Given the description of an element on the screen output the (x, y) to click on. 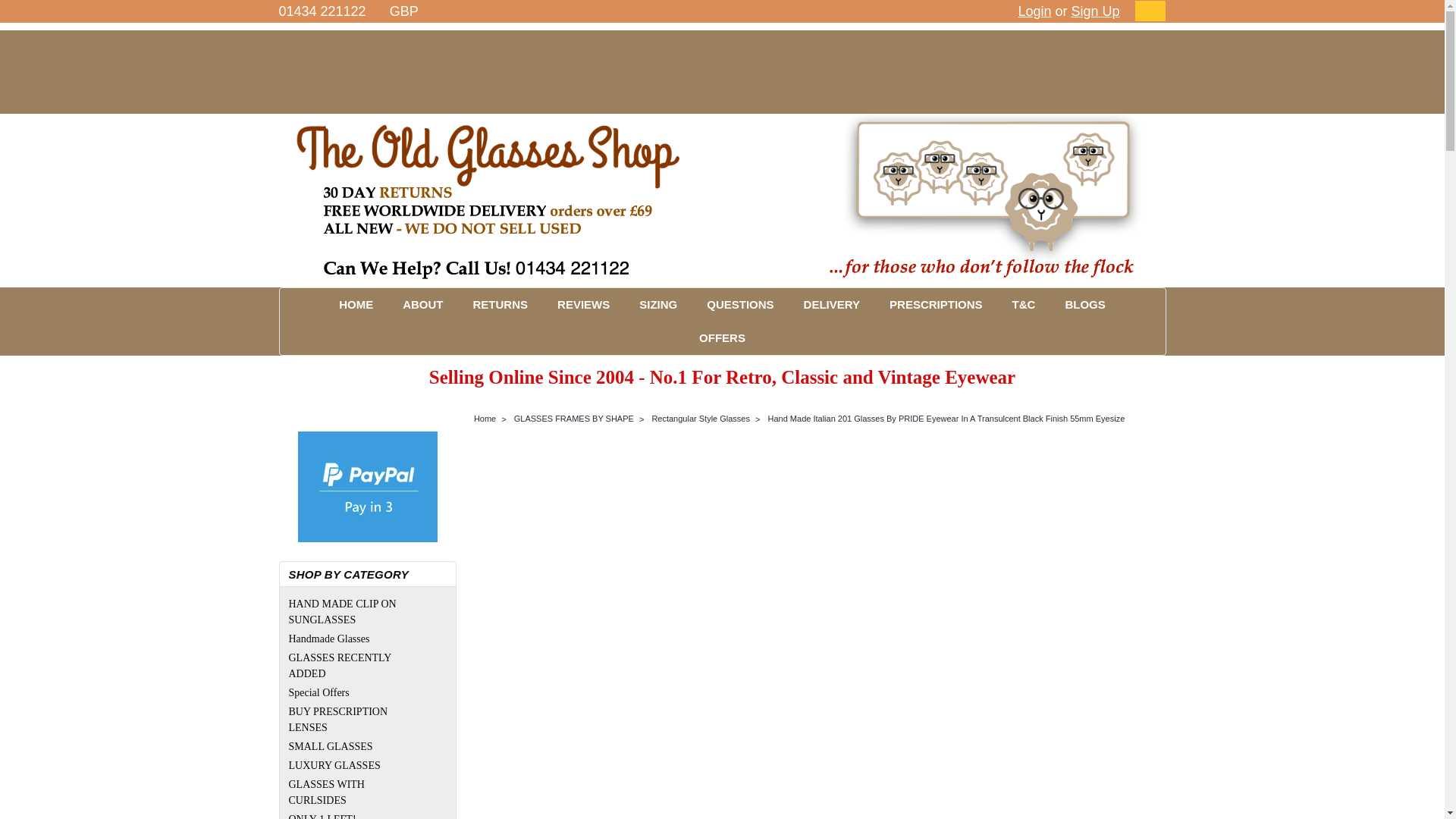
Currency Selector (410, 11)
Sign Up (1093, 11)
Login (1034, 11)
GBP (410, 11)
